Given the description of an element on the screen output the (x, y) to click on. 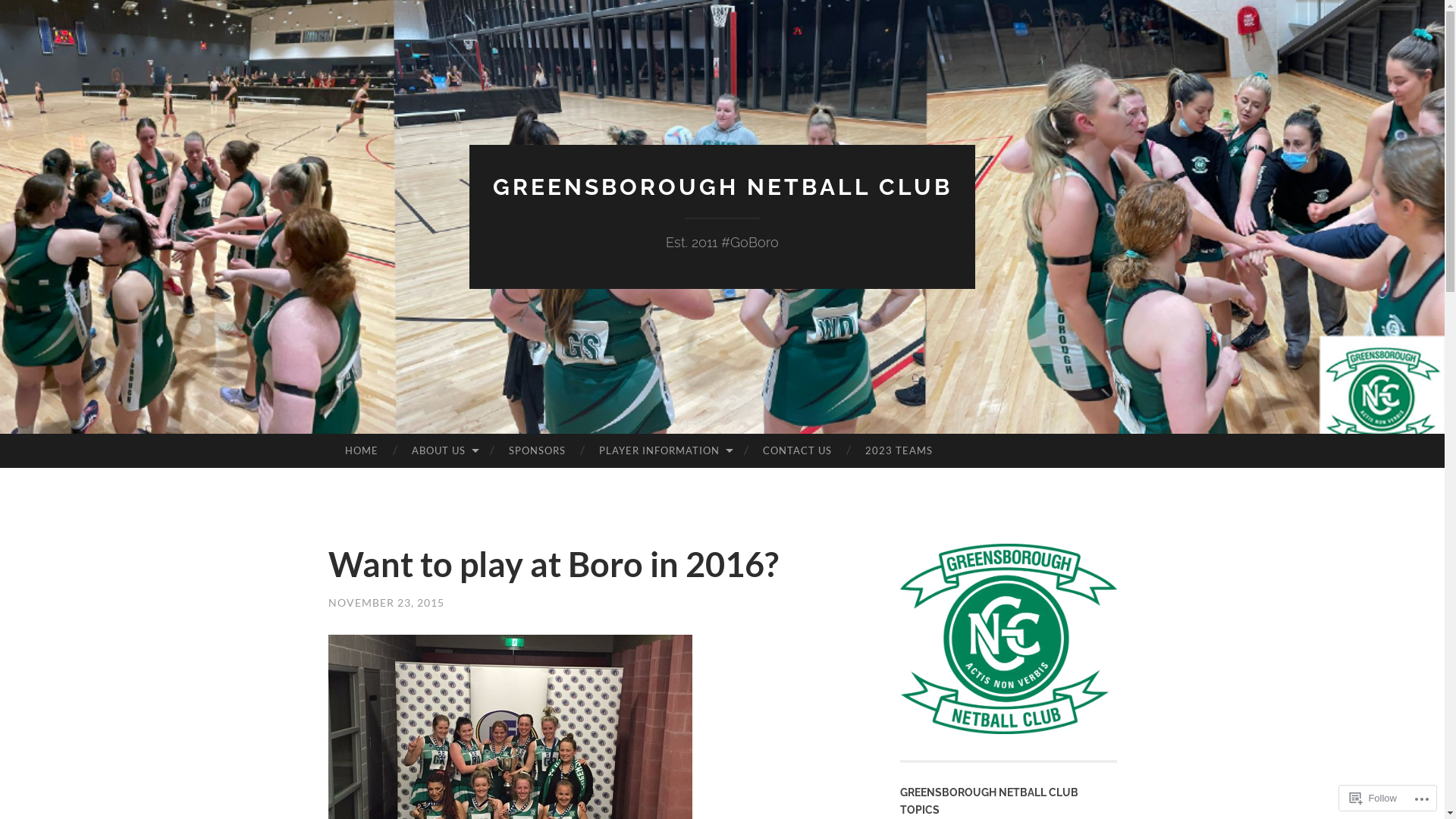
GREENSBOROUGH NETBALL CLUB Element type: text (722, 186)
CONTACT US Element type: text (797, 450)
Follow Element type: text (1372, 797)
HOME Element type: text (360, 450)
SPONSORS Element type: text (537, 450)
NOVEMBER 23, 2015 Element type: text (385, 602)
2023 TEAMS Element type: text (898, 450)
ABOUT US Element type: text (443, 450)
PLAYER INFORMATION Element type: text (664, 450)
